Given the description of an element on the screen output the (x, y) to click on. 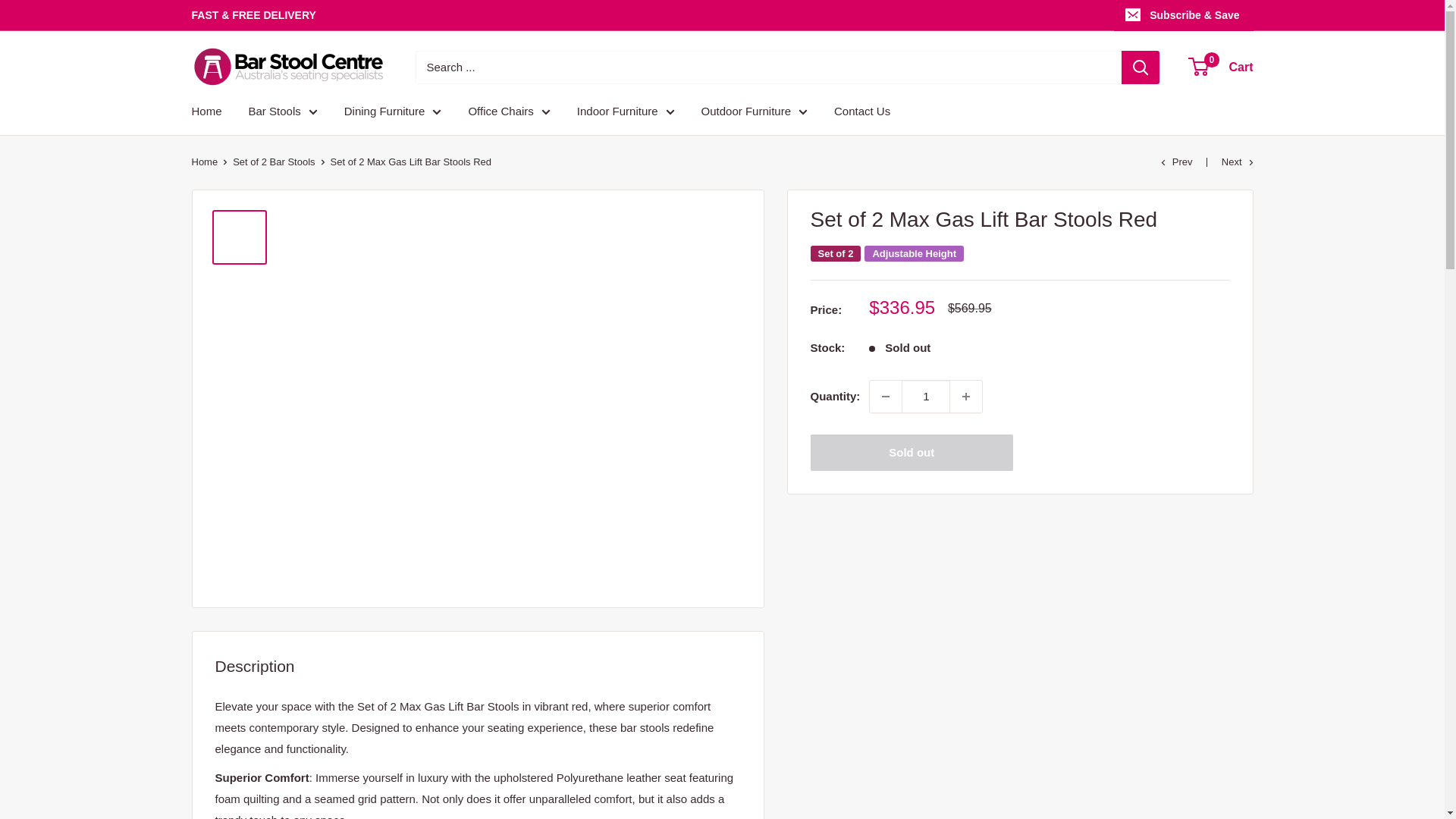
1 (925, 396)
Decrease quantity by 1 (885, 396)
Increase quantity by 1 (965, 396)
